Given the description of an element on the screen output the (x, y) to click on. 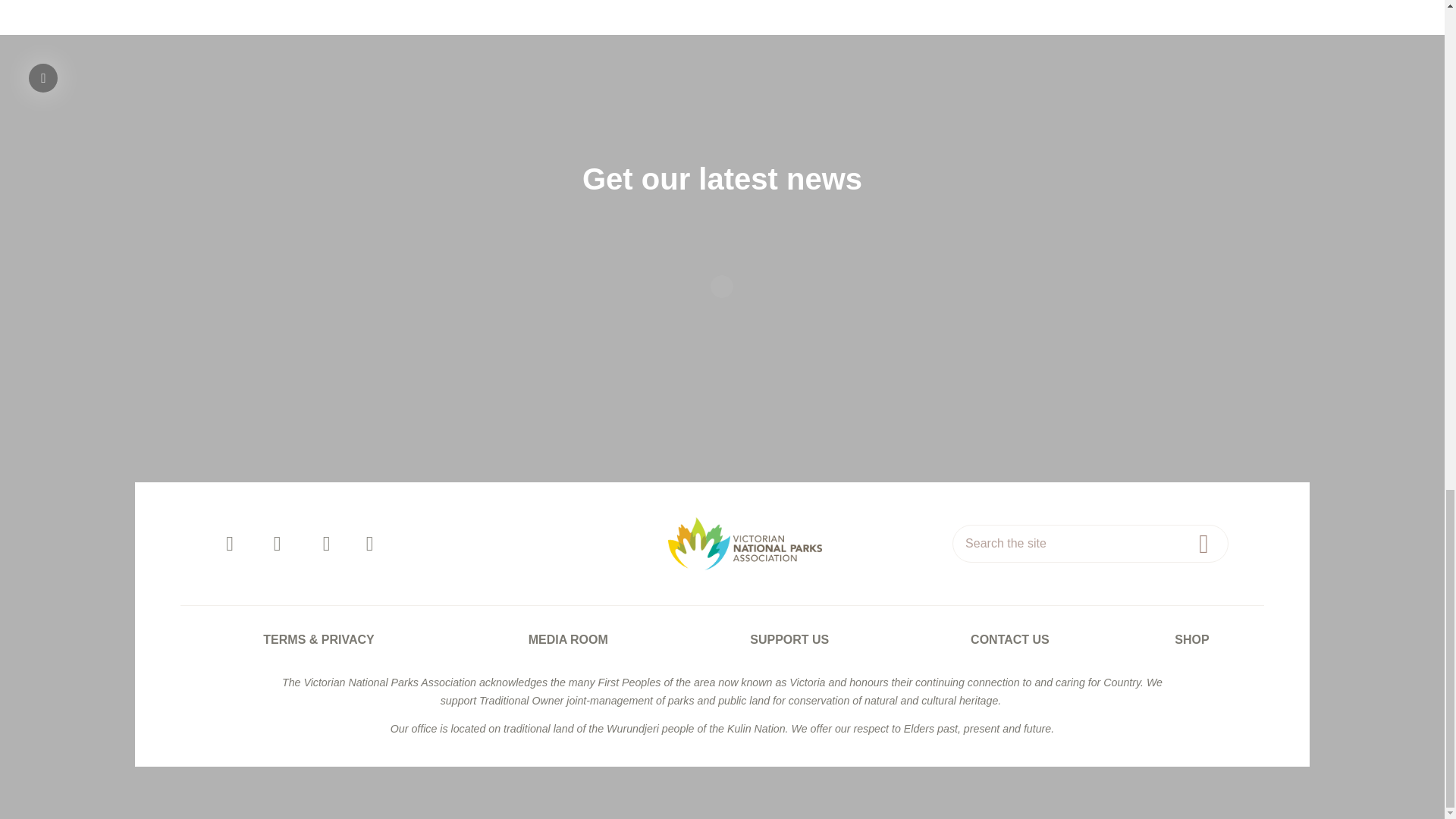
Search for: (1090, 543)
Social menu (400, 543)
Footer menu (721, 639)
